Given the description of an element on the screen output the (x, y) to click on. 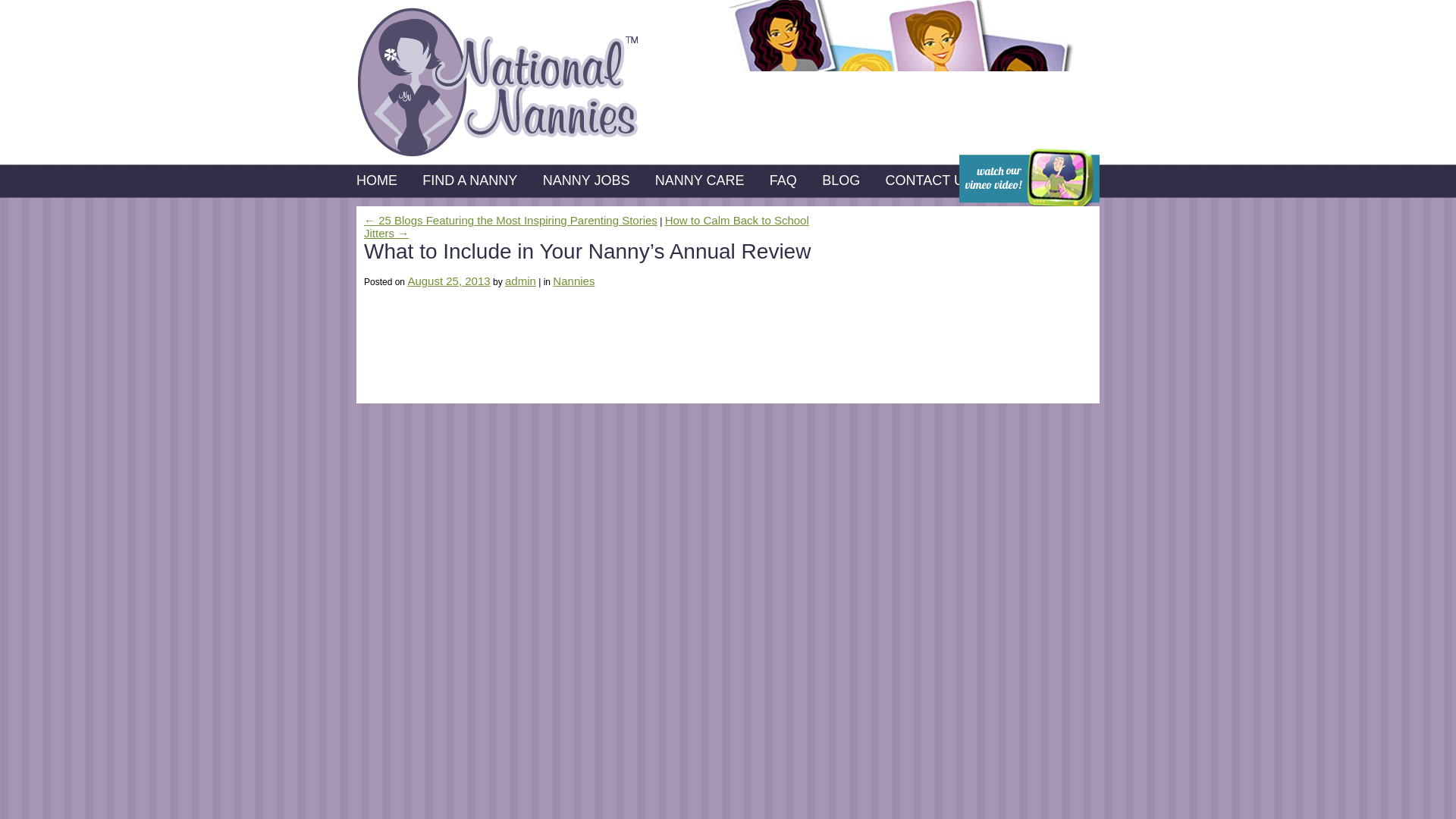
Find the Perfect Nanny the Safe Way (498, 82)
August 25, 2013 (448, 280)
NANNY CARE (699, 180)
CONTACT US (928, 180)
HOME (376, 180)
NANNY JOBS (586, 180)
admin (520, 280)
View all posts by admin (520, 280)
7:00 am (448, 280)
BLOG (841, 180)
Nannies (573, 280)
FAQ (783, 180)
FIND A NANNY (469, 180)
